Given the description of an element on the screen output the (x, y) to click on. 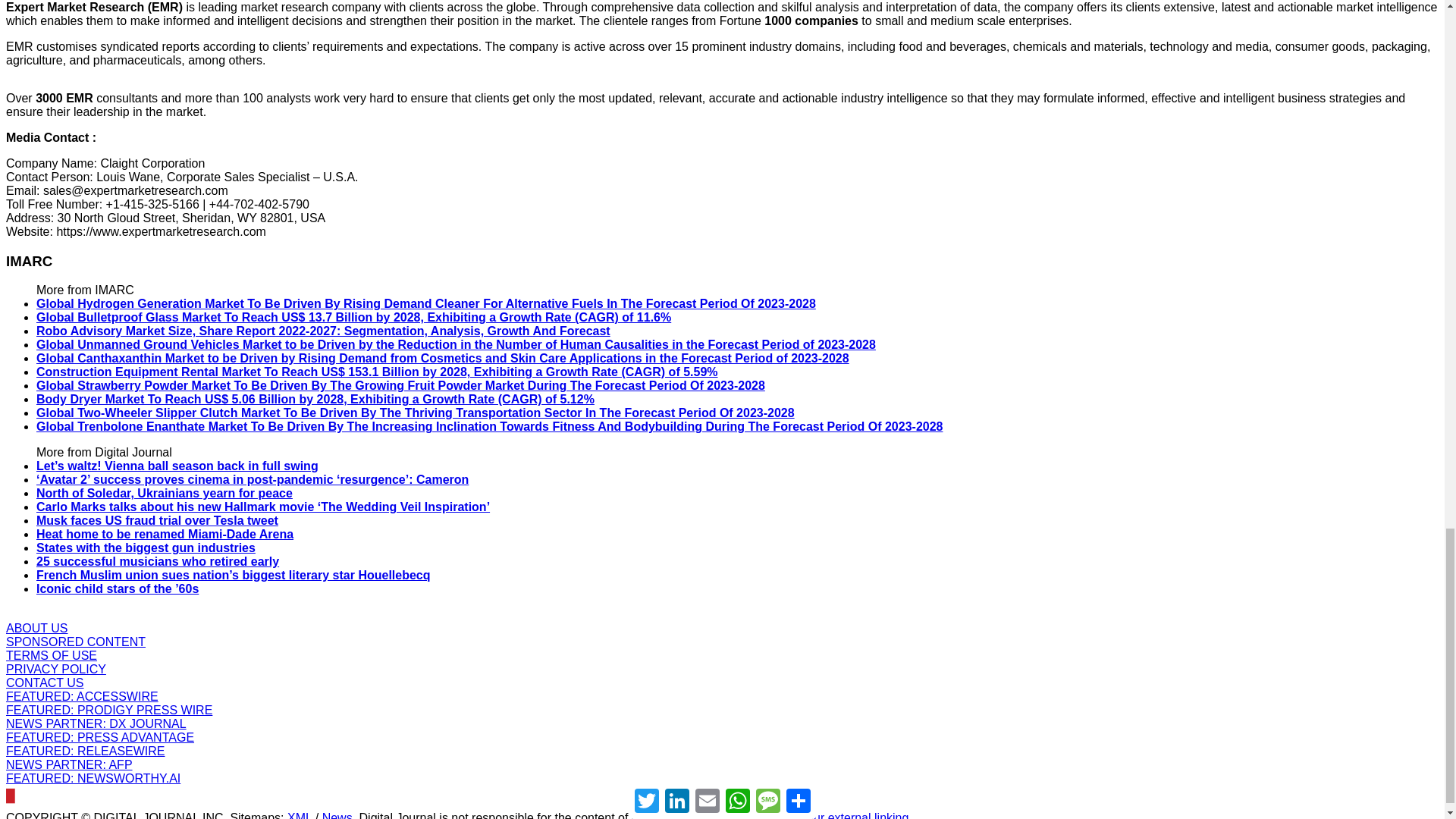
ABOUT US (36, 627)
25 successful musicians who retired early (157, 561)
Musk faces US fraud trial over Tesla tweet (157, 520)
States with the biggest gun industries (146, 547)
North of Soledar, Ukrainians yearn for peace (164, 492)
Heat home to be renamed Miami-Dade Arena (165, 533)
SPONSORED CONTENT (75, 641)
